Given the description of an element on the screen output the (x, y) to click on. 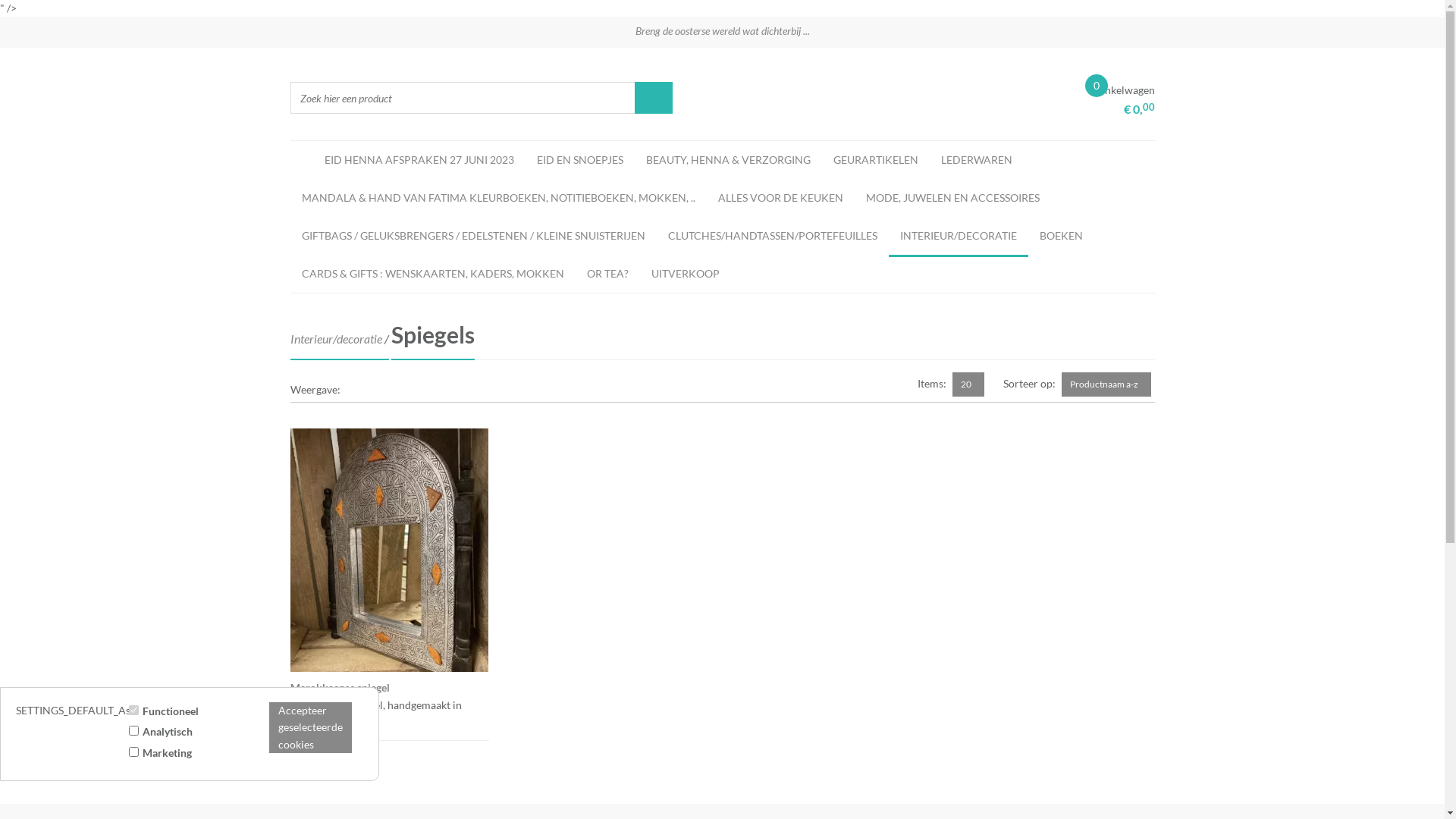
MODE, JUWELEN EN ACCESSOIRES Element type: text (951, 197)
20 Element type: text (968, 383)
Marokkaanse spiegel Element type: text (339, 686)
Marokkaanse spiegel Element type: hover (389, 561)
Productnaam a-z Element type: text (1106, 383)
INTERIEUR/DECORATIE Element type: text (958, 236)
Interieur/decoratie Element type: text (335, 338)
BEAUTY, HENNA & VERZORGING Element type: text (727, 159)
GIFTBAGS / GELUKSBRENGERS / EDELSTENEN / KLEINE SNUISTERIJEN Element type: text (472, 235)
EID EN SNOEPJES Element type: text (578, 159)
UITVERKOOP Element type: text (685, 273)
OR TEA? Element type: text (606, 273)
BOEKEN Element type: text (1061, 235)
ALLES VOOR DE KEUKEN Element type: text (780, 197)
GEURARTIKELEN Element type: text (875, 159)
CLUTCHES/HANDTASSEN/PORTEFEUILLES Element type: text (772, 235)
CARDS & GIFTS : WENSKAARTEN, KADERS, MOKKEN Element type: text (431, 273)
LEDERWAREN Element type: text (976, 159)
EID HENNA AFSPRAKEN 27 JUNI 2023 Element type: text (418, 159)
